Given the description of an element on the screen output the (x, y) to click on. 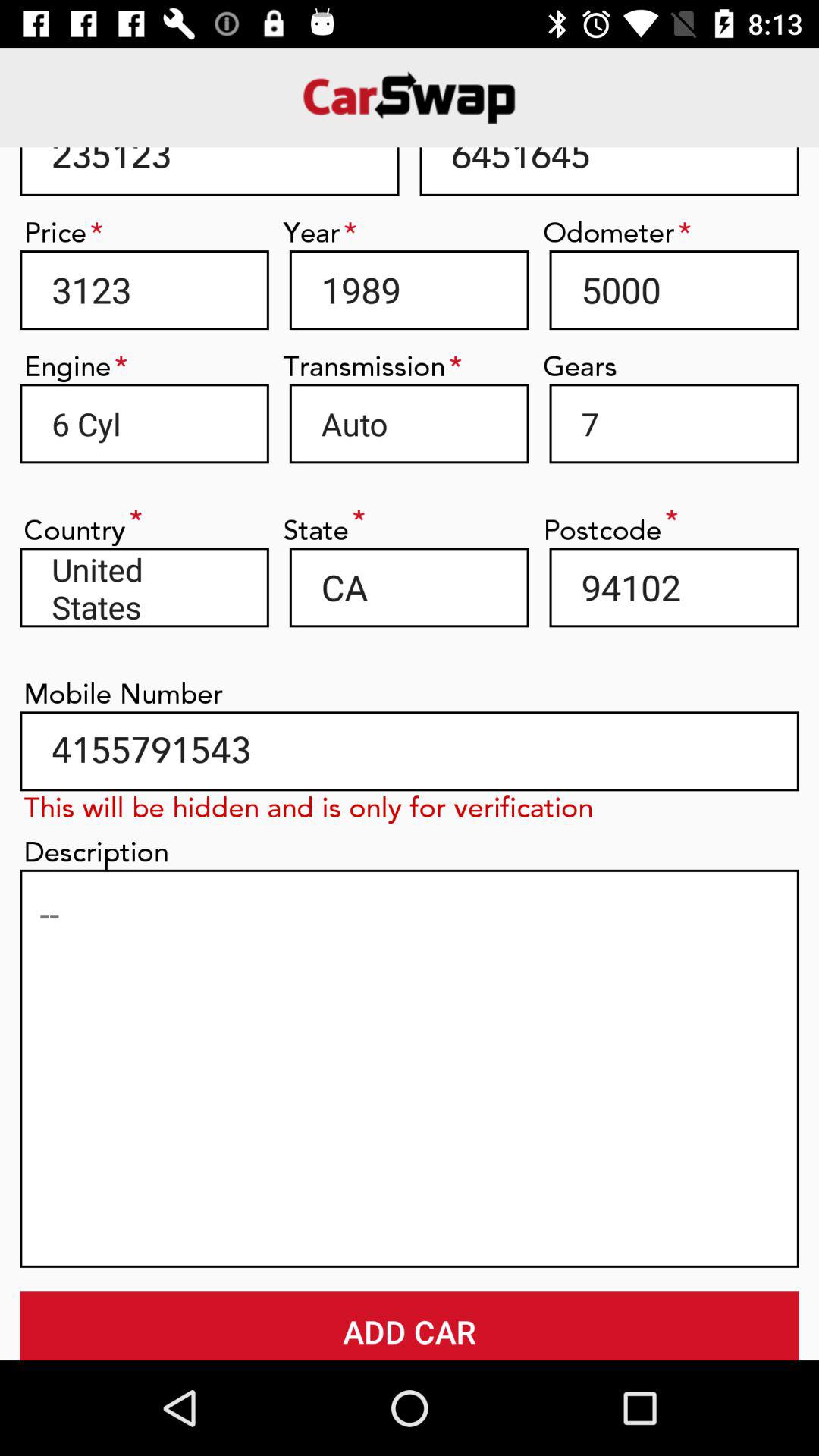
choose item next to postcode icon (408, 587)
